Given the description of an element on the screen output the (x, y) to click on. 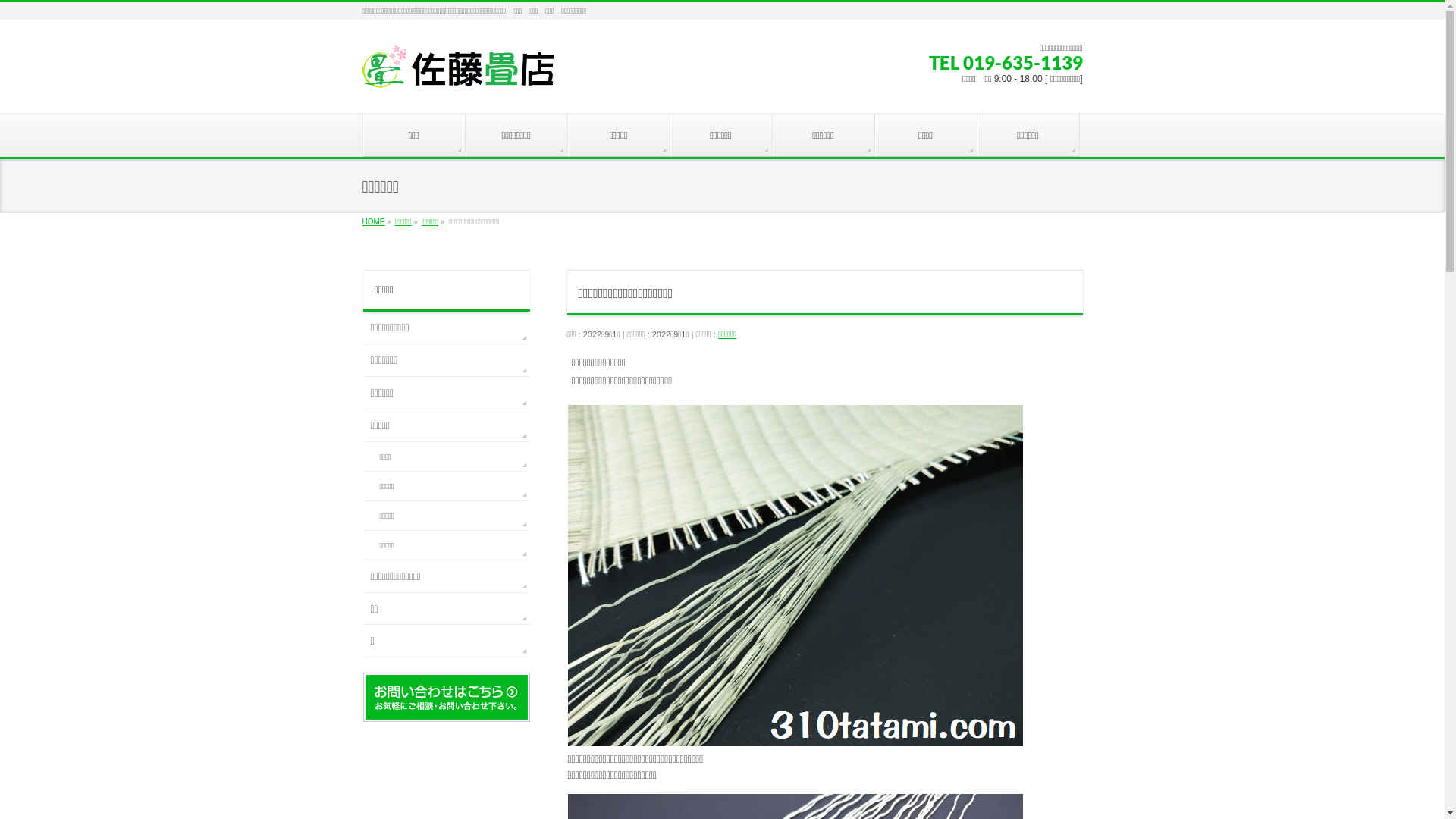
HOME Element type: text (373, 221)
